Given the description of an element on the screen output the (x, y) to click on. 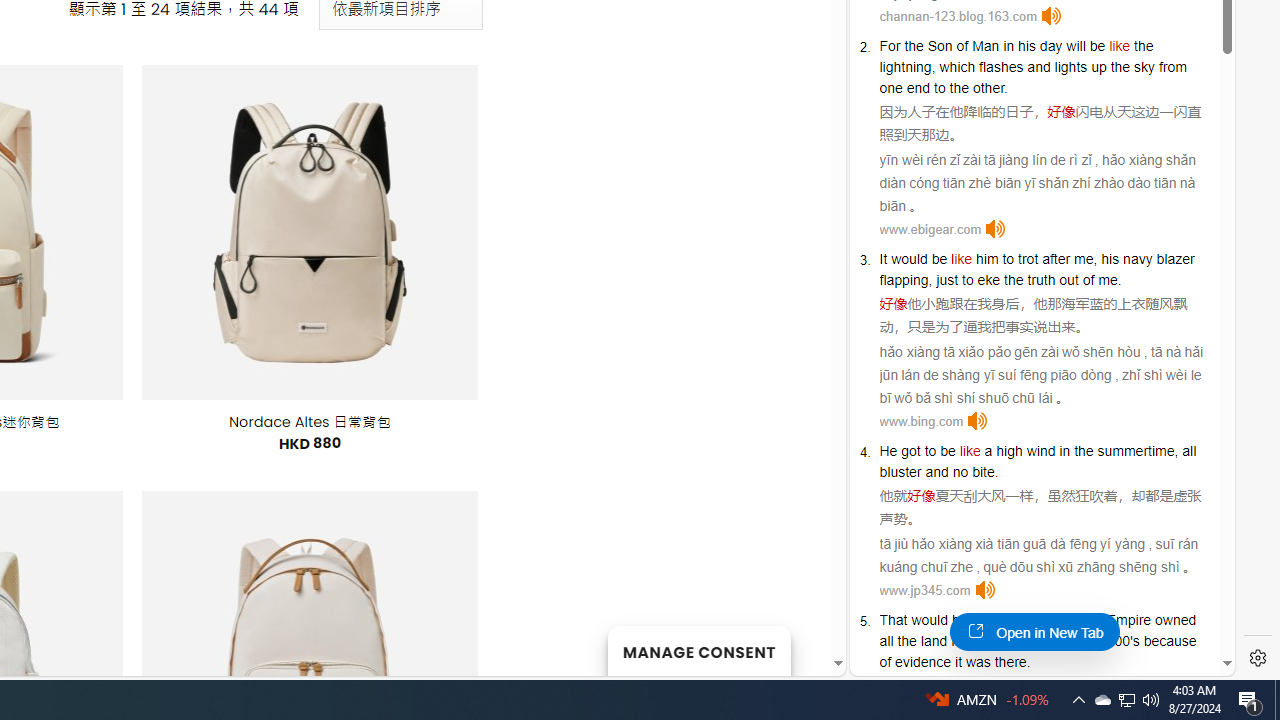
trot (1028, 259)
me (1107, 280)
land (934, 640)
his (1026, 46)
navy (1137, 259)
www.bing.com (921, 421)
there (1010, 661)
channan-123.blog.163.com (958, 15)
truth (1041, 280)
